Given the description of an element on the screen output the (x, y) to click on. 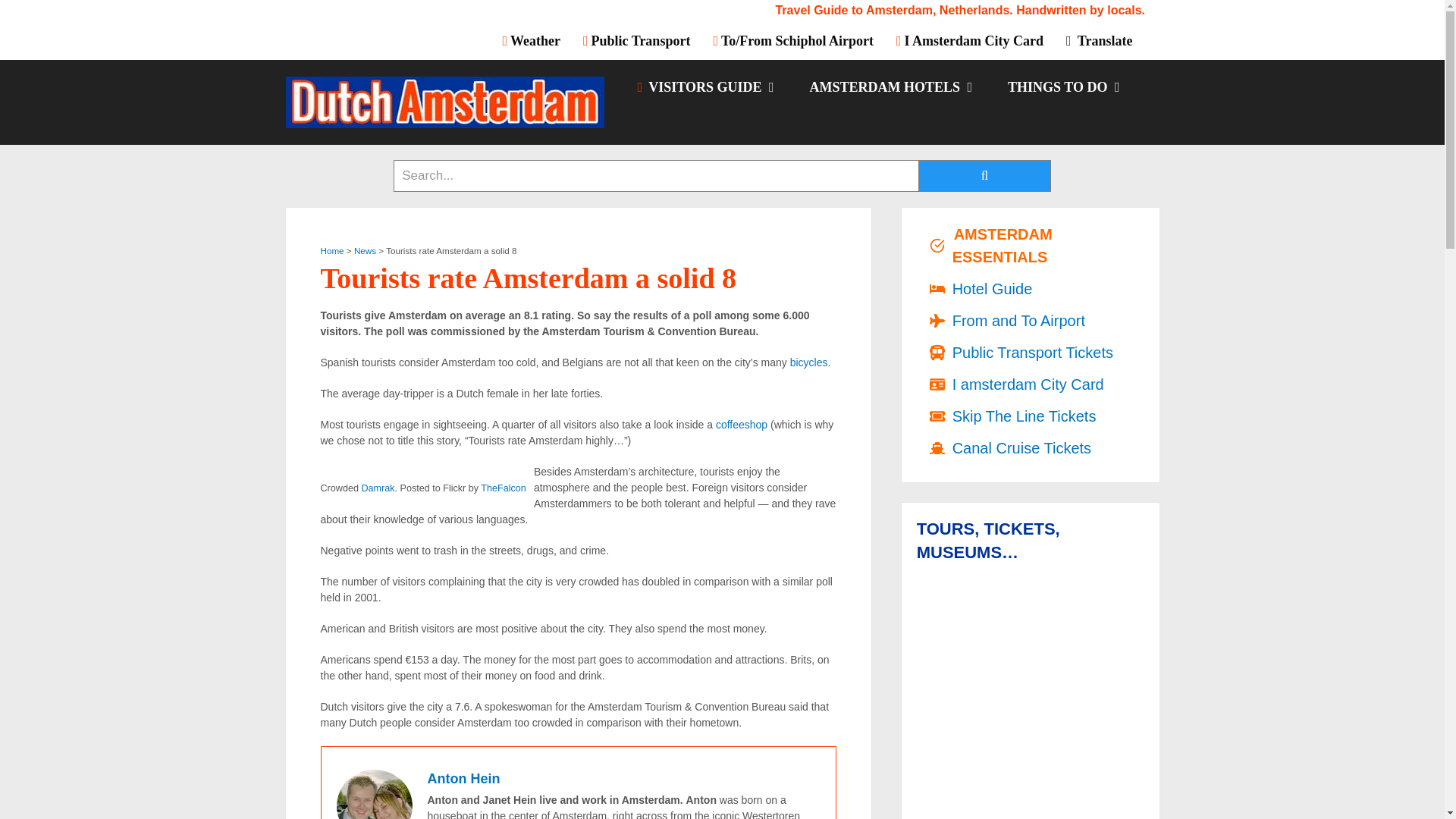
VISITORS GUIDE (704, 86)
Weather (537, 40)
Translate (1098, 40)
Hotel Guide (890, 86)
Things to do in Amsterdam (1061, 86)
Visitors Guide (704, 86)
I Amsterdam City Card (969, 40)
August weather in Amsterdam (537, 40)
THINGS TO DO (1061, 86)
AMSTERDAM HOTELS (890, 86)
Public Transport (636, 40)
Translate this page (1098, 40)
